Given the description of an element on the screen output the (x, y) to click on. 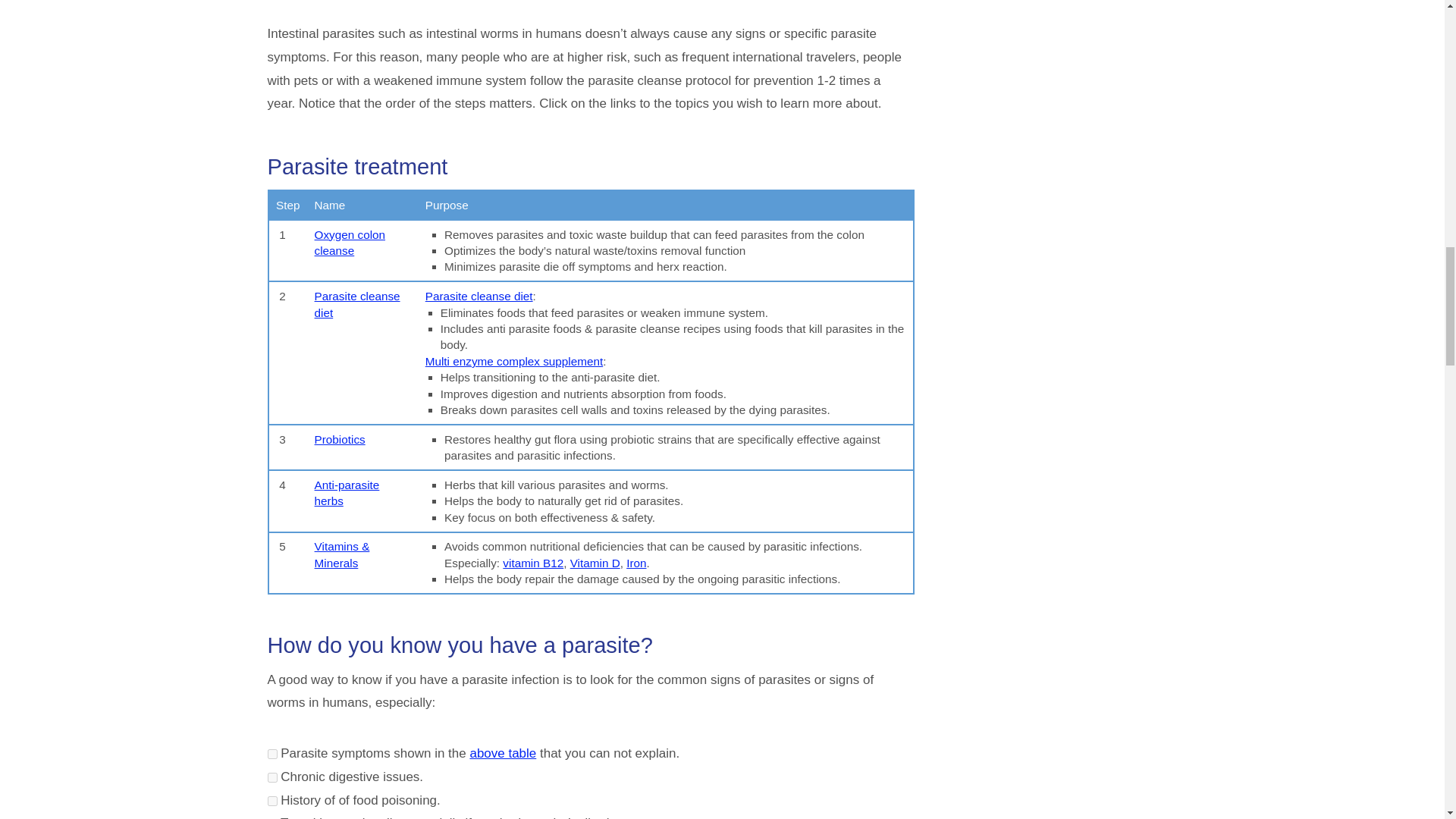
10 (271, 754)
10 (271, 800)
10 (271, 777)
